Given the description of an element on the screen output the (x, y) to click on. 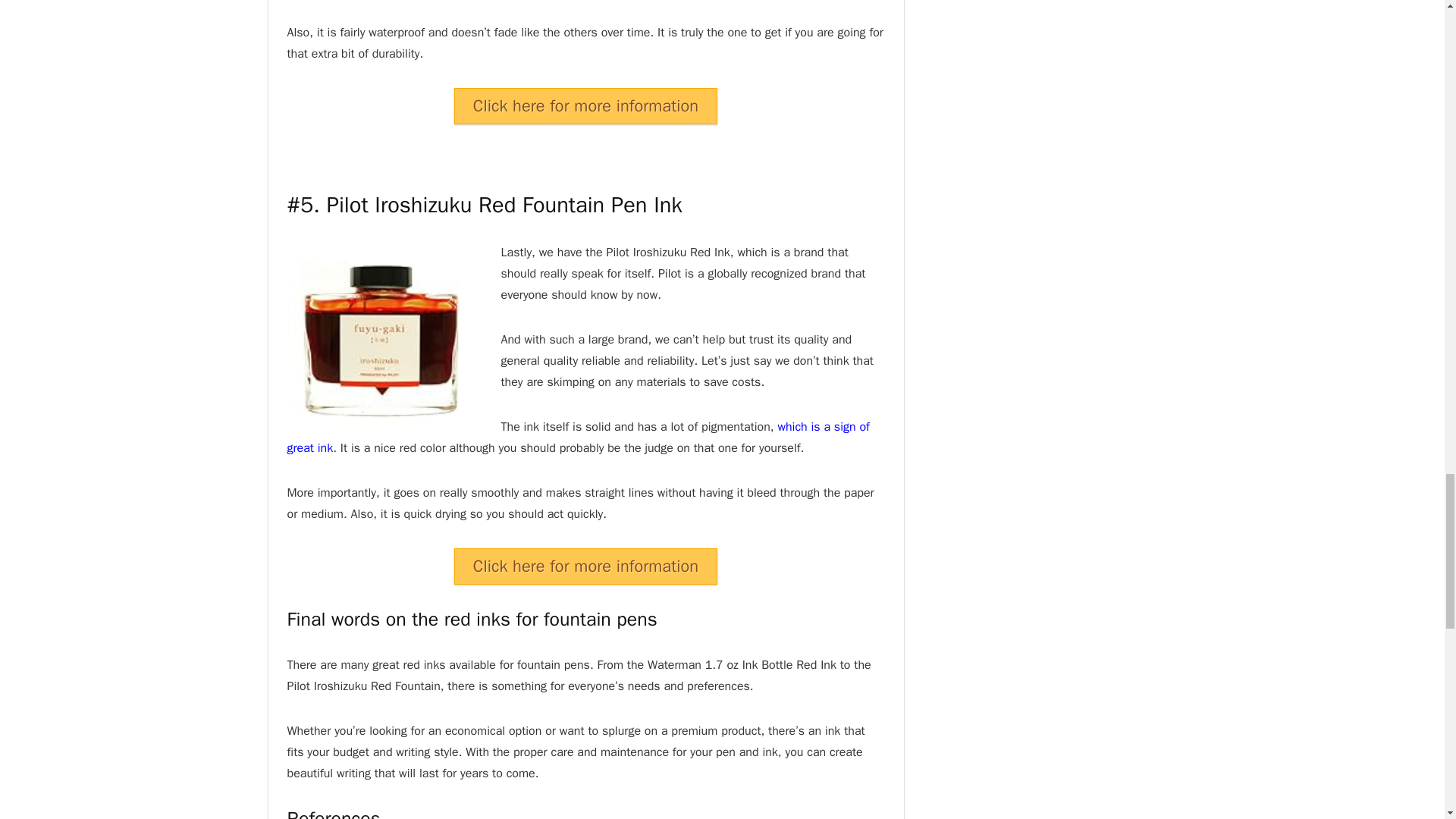
which is a sign of great ink (577, 437)
Click here for more information (585, 105)
Click here for more information (585, 565)
